Given the description of an element on the screen output the (x, y) to click on. 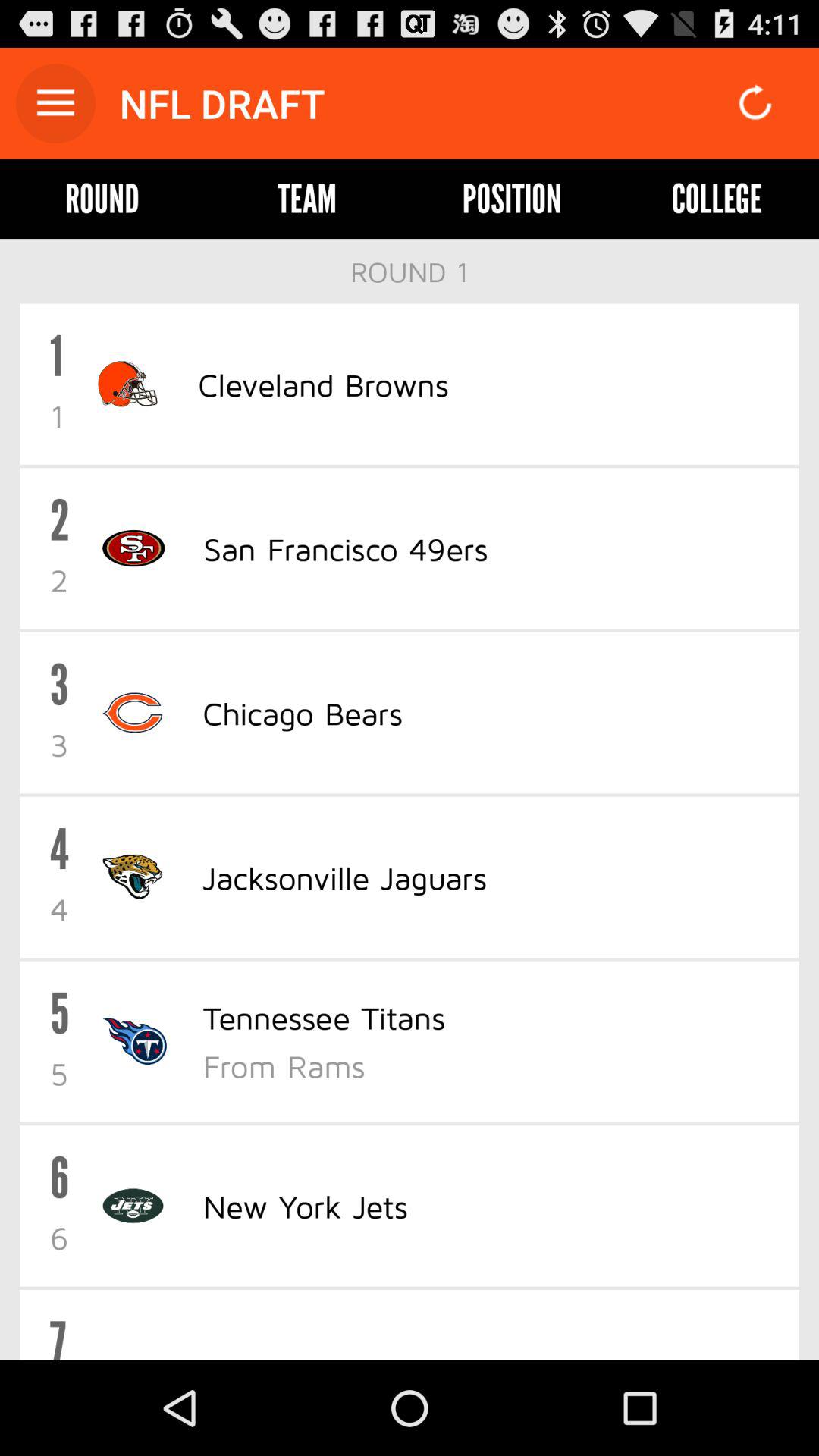
launch item to the right of round item (306, 198)
